Given the description of an element on the screen output the (x, y) to click on. 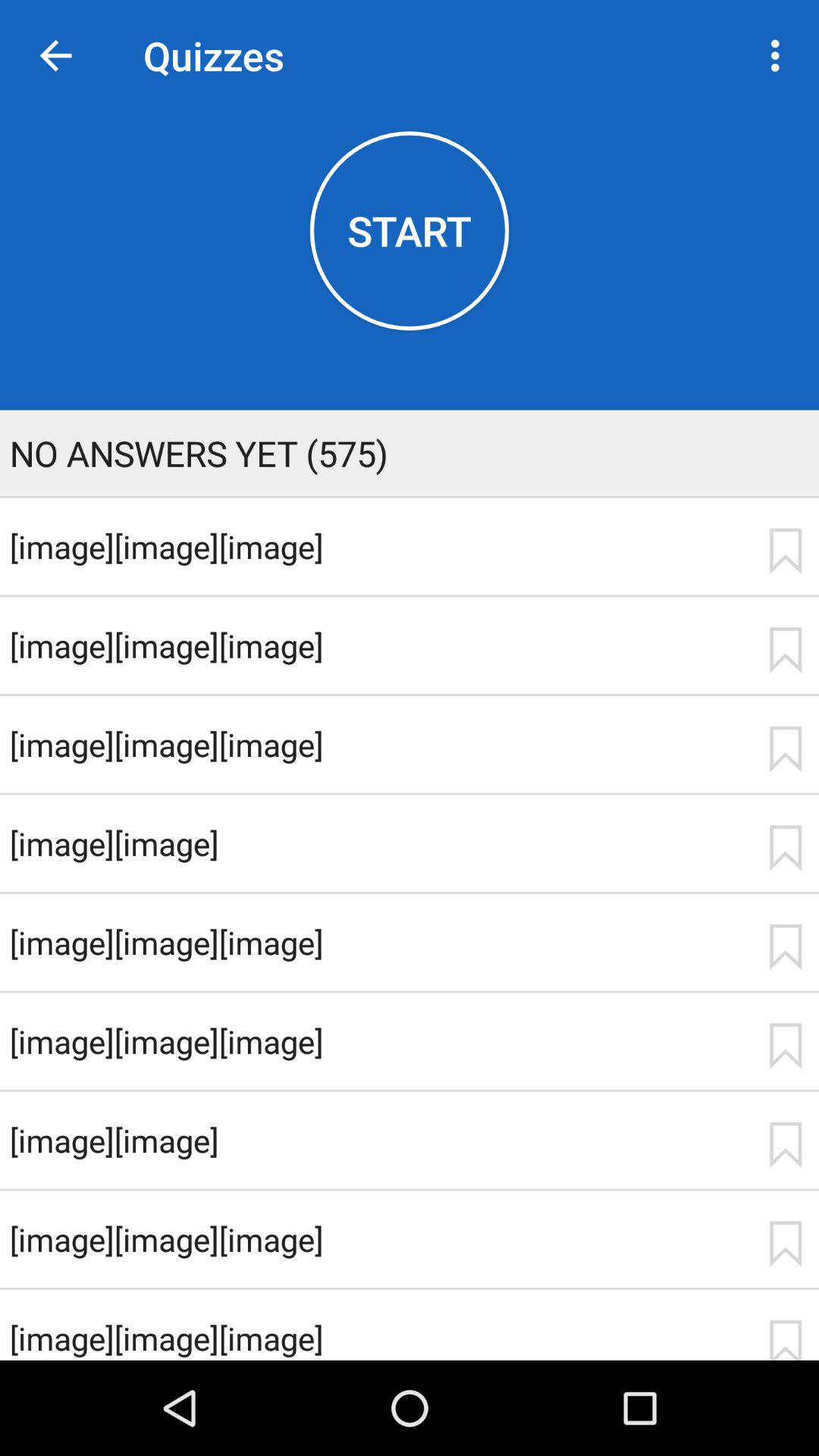
swipe to start icon (409, 230)
